Given the description of an element on the screen output the (x, y) to click on. 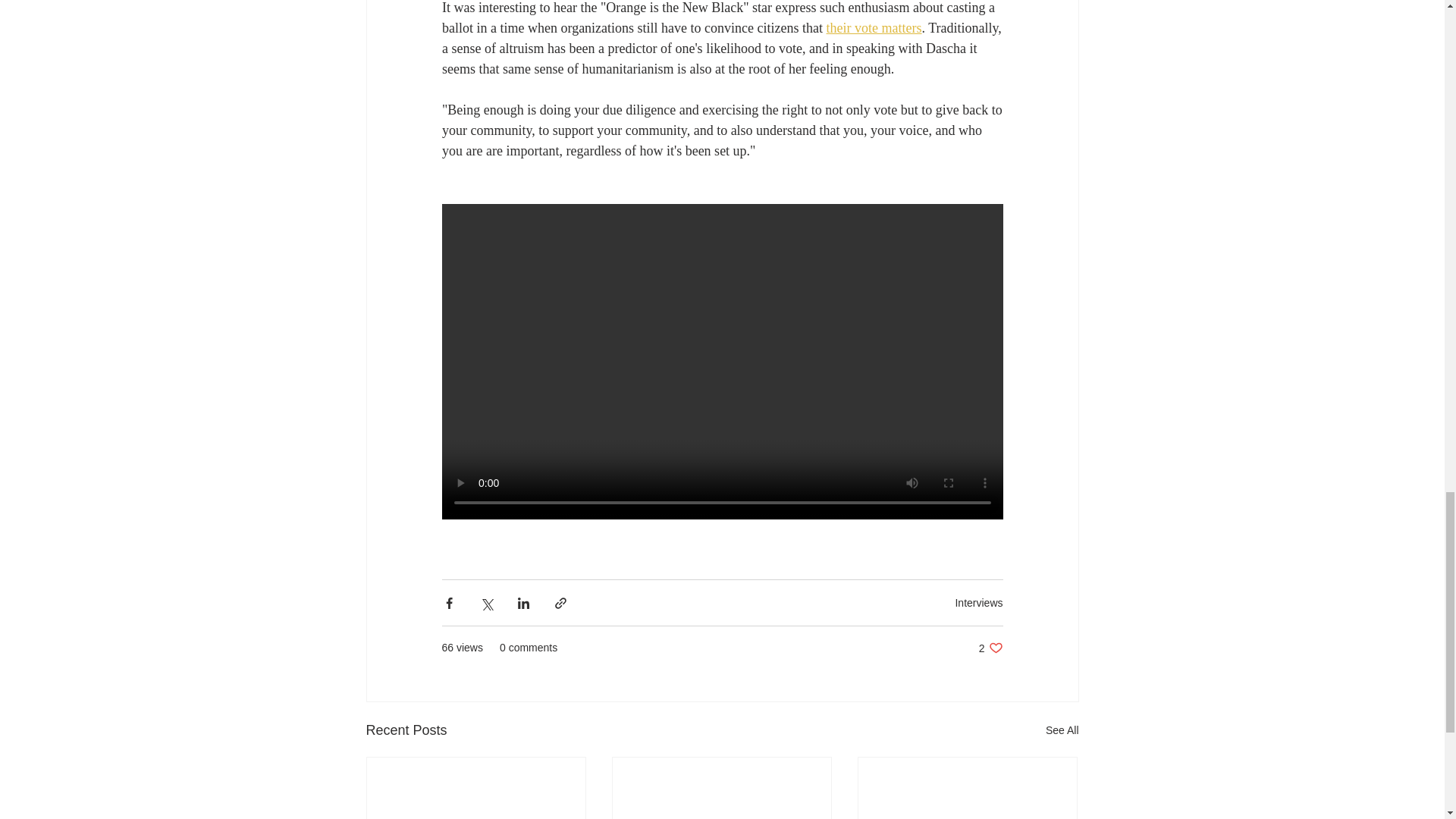
their vote matters (990, 647)
See All (873, 28)
Interviews (1061, 730)
